Given the description of an element on the screen output the (x, y) to click on. 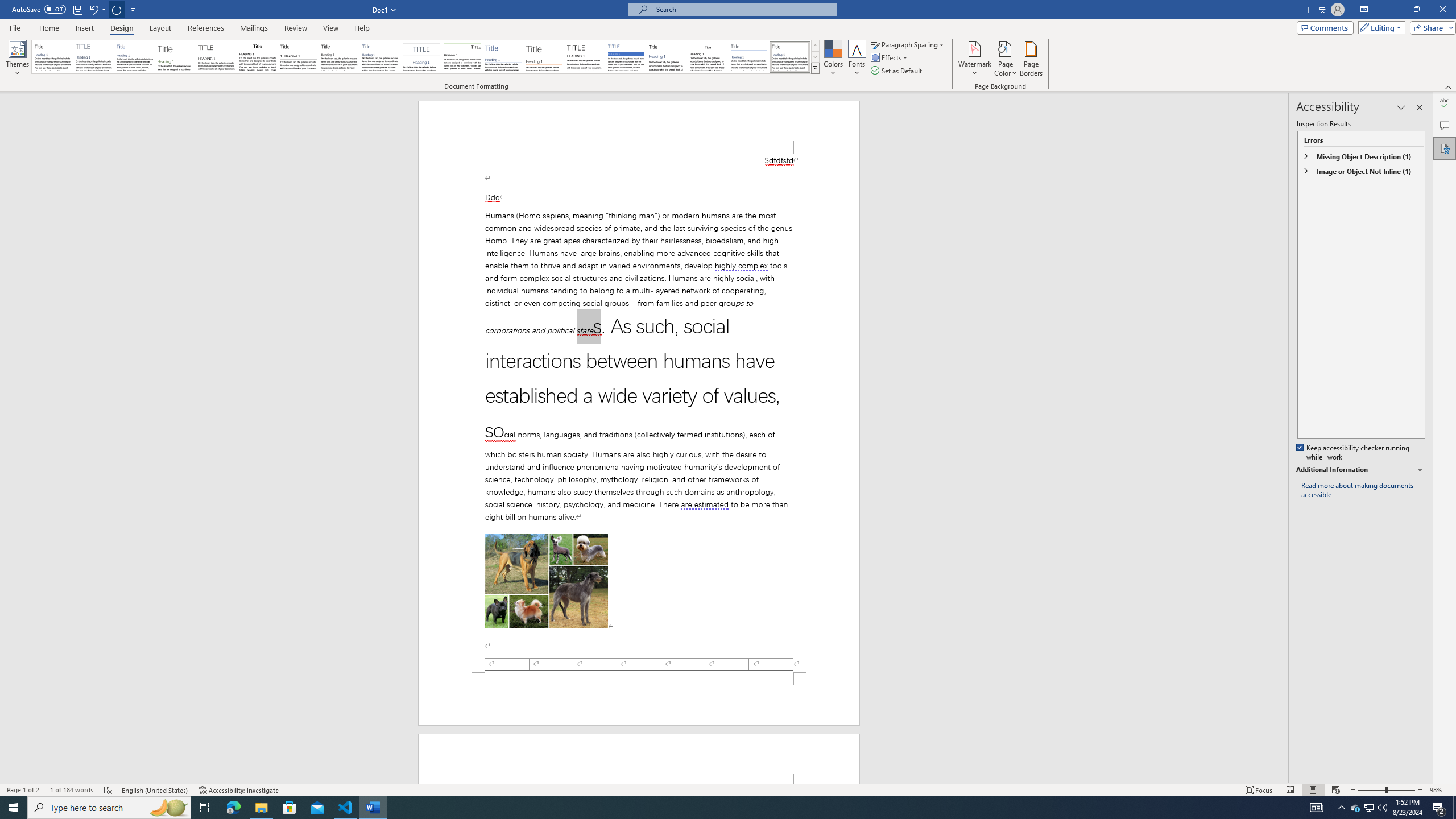
Accessibility (1444, 147)
Colors (832, 58)
Black & White (Capitalized) (216, 56)
Word 2003 (707, 56)
Basic (Stylish) (175, 56)
Read more about making documents accessible (1363, 489)
Repeat Accessibility Checker (117, 9)
Page Number Page 1 of 2 (22, 790)
